Given the description of an element on the screen output the (x, y) to click on. 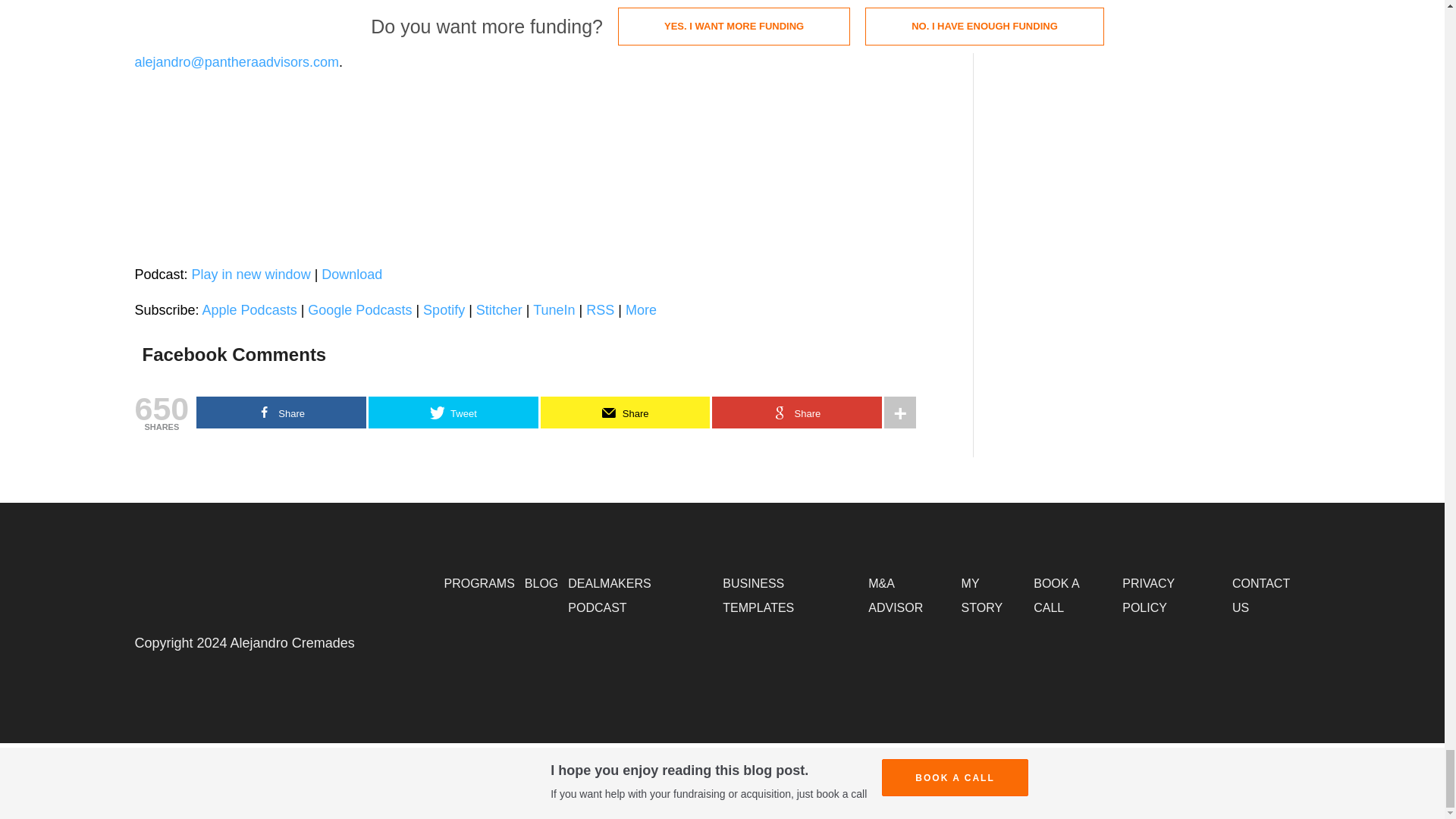
Subscribe on Google Podcasts (359, 309)
Download (351, 273)
Subscribe on TuneIn (553, 309)
Subscribe on Stitcher (499, 309)
More (641, 309)
Subscribe on Apple Podcasts (249, 309)
Play in new window (251, 273)
Subscribe on Spotify (443, 309)
Subscribe via RSS (600, 309)
